Given the description of an element on the screen output the (x, y) to click on. 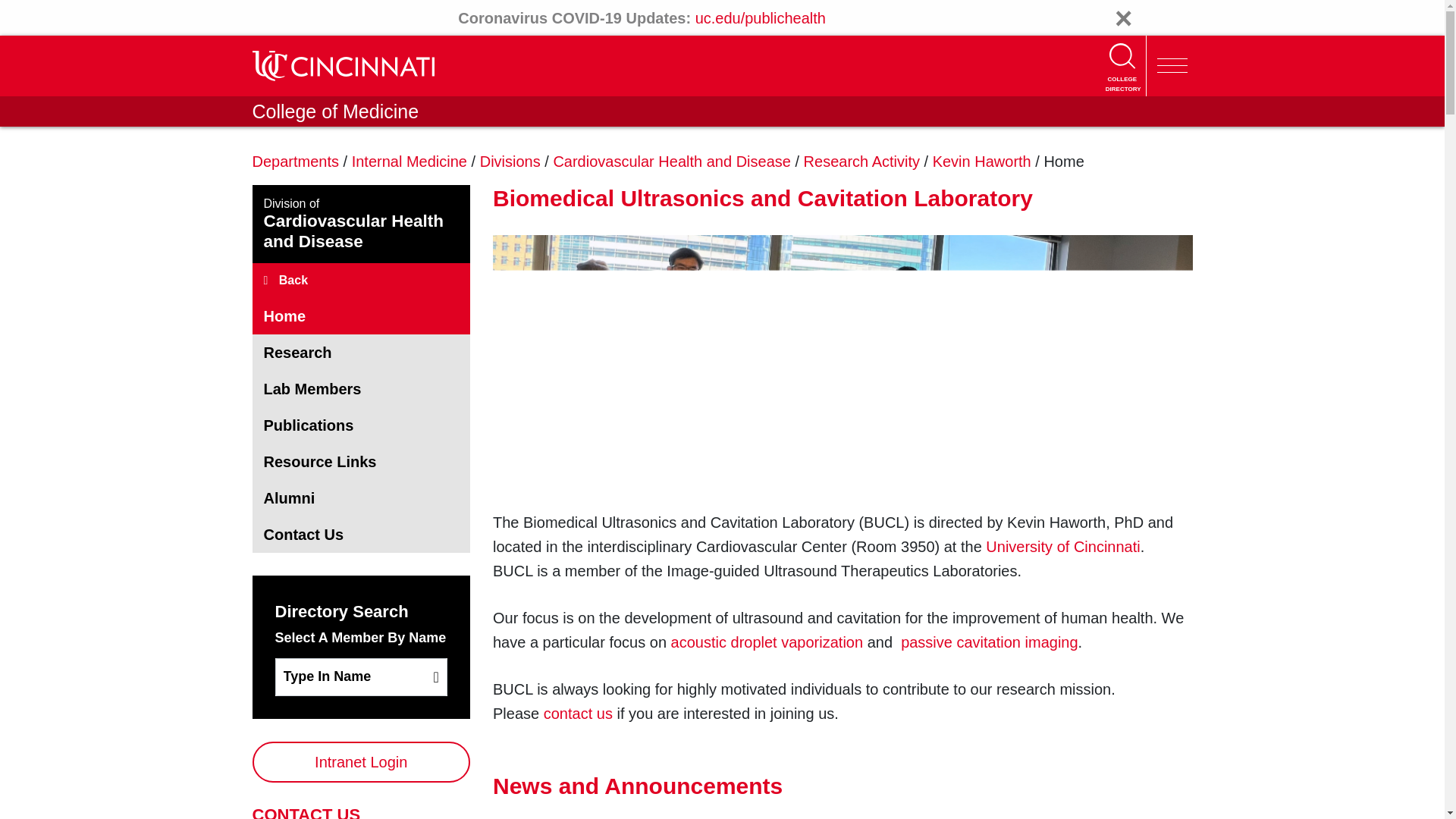
College of Medicine (335, 111)
